Given the description of an element on the screen output the (x, y) to click on. 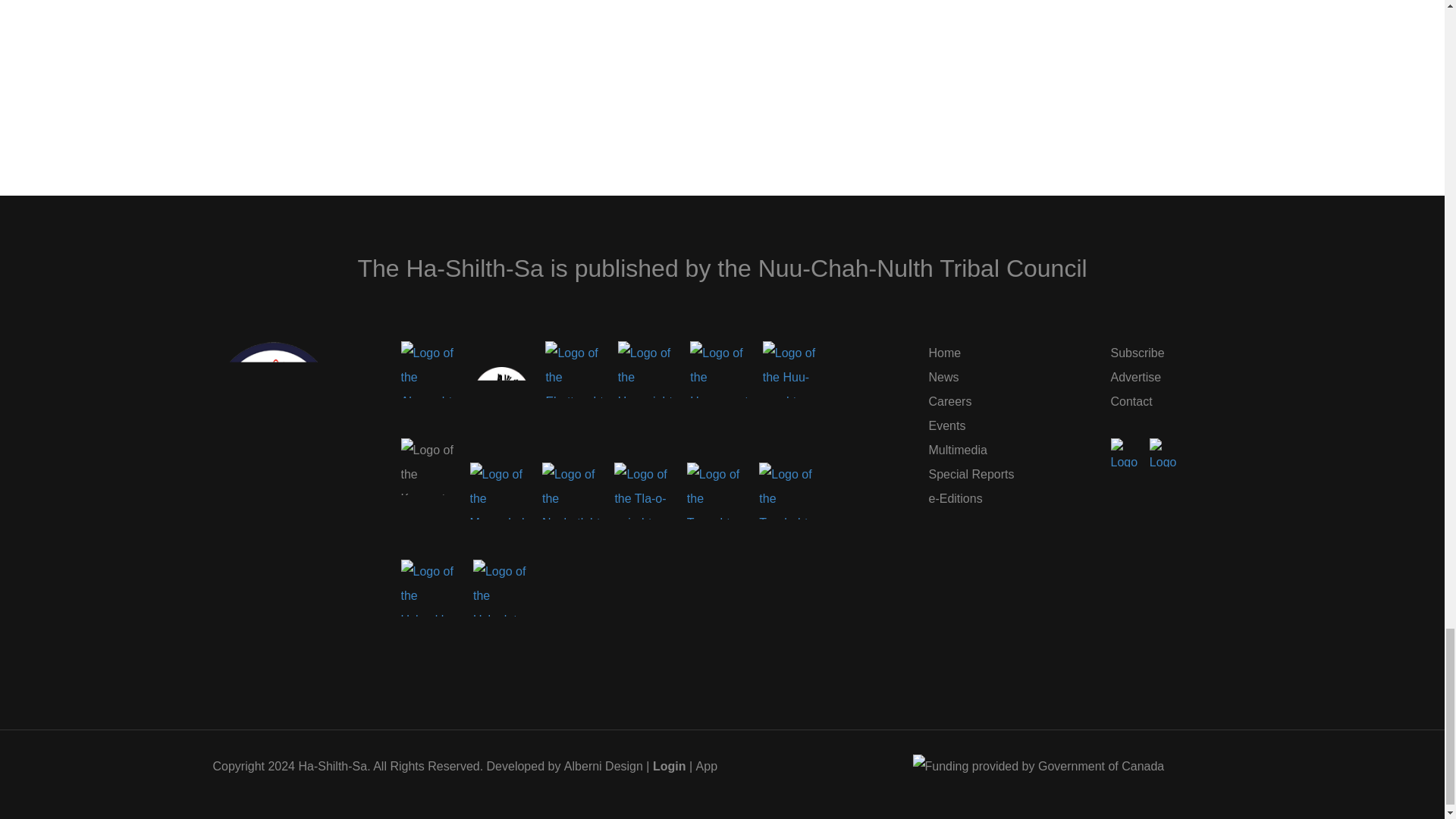
Ditidaht (501, 402)
Hesquiaht (646, 369)
Nuchatlaht (569, 490)
